Given the description of an element on the screen output the (x, y) to click on. 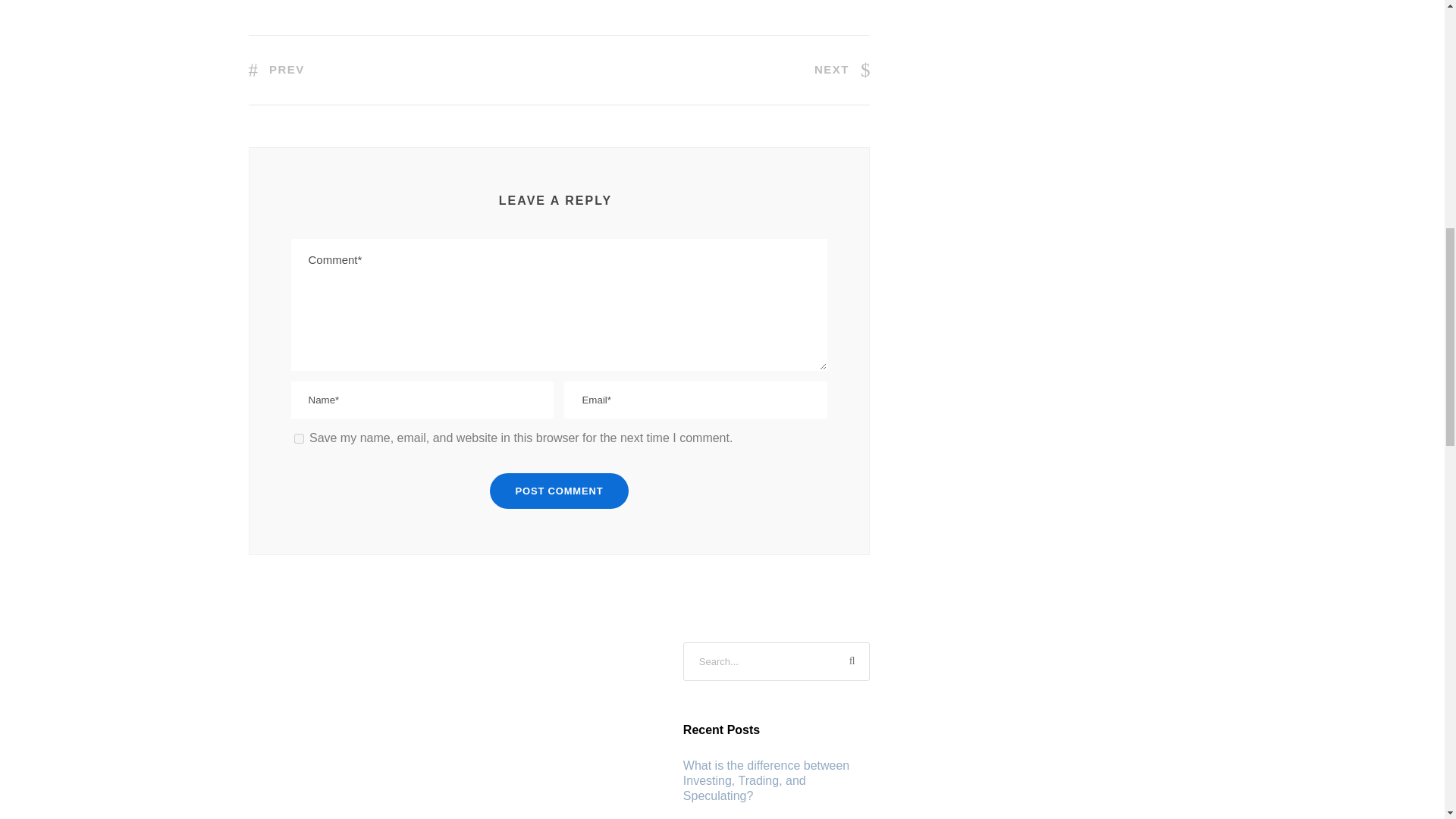
yes (299, 438)
PREV (276, 69)
Post Comment (558, 490)
NEXT (841, 69)
